Given the description of an element on the screen output the (x, y) to click on. 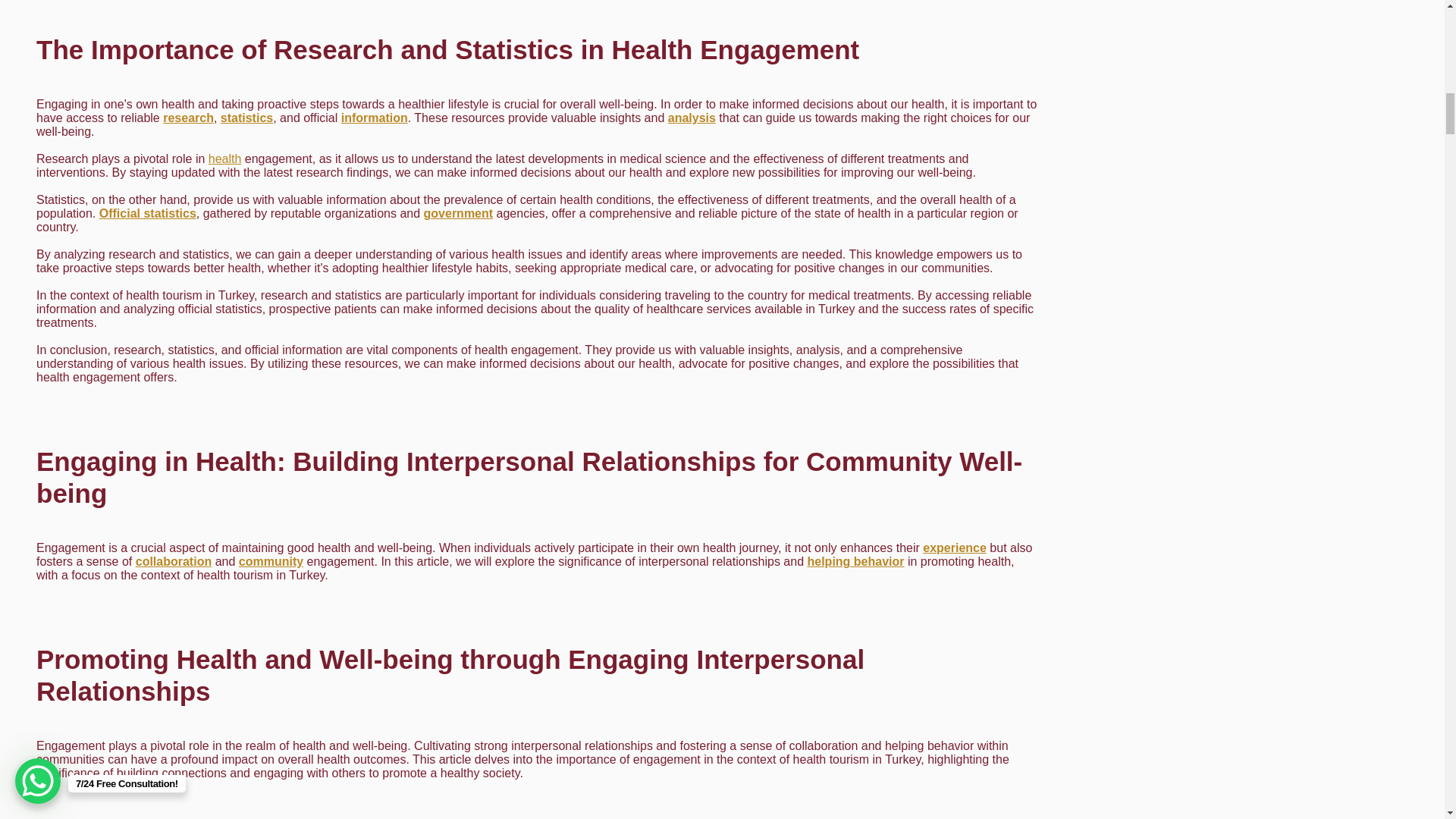
health (224, 158)
